Given the description of an element on the screen output the (x, y) to click on. 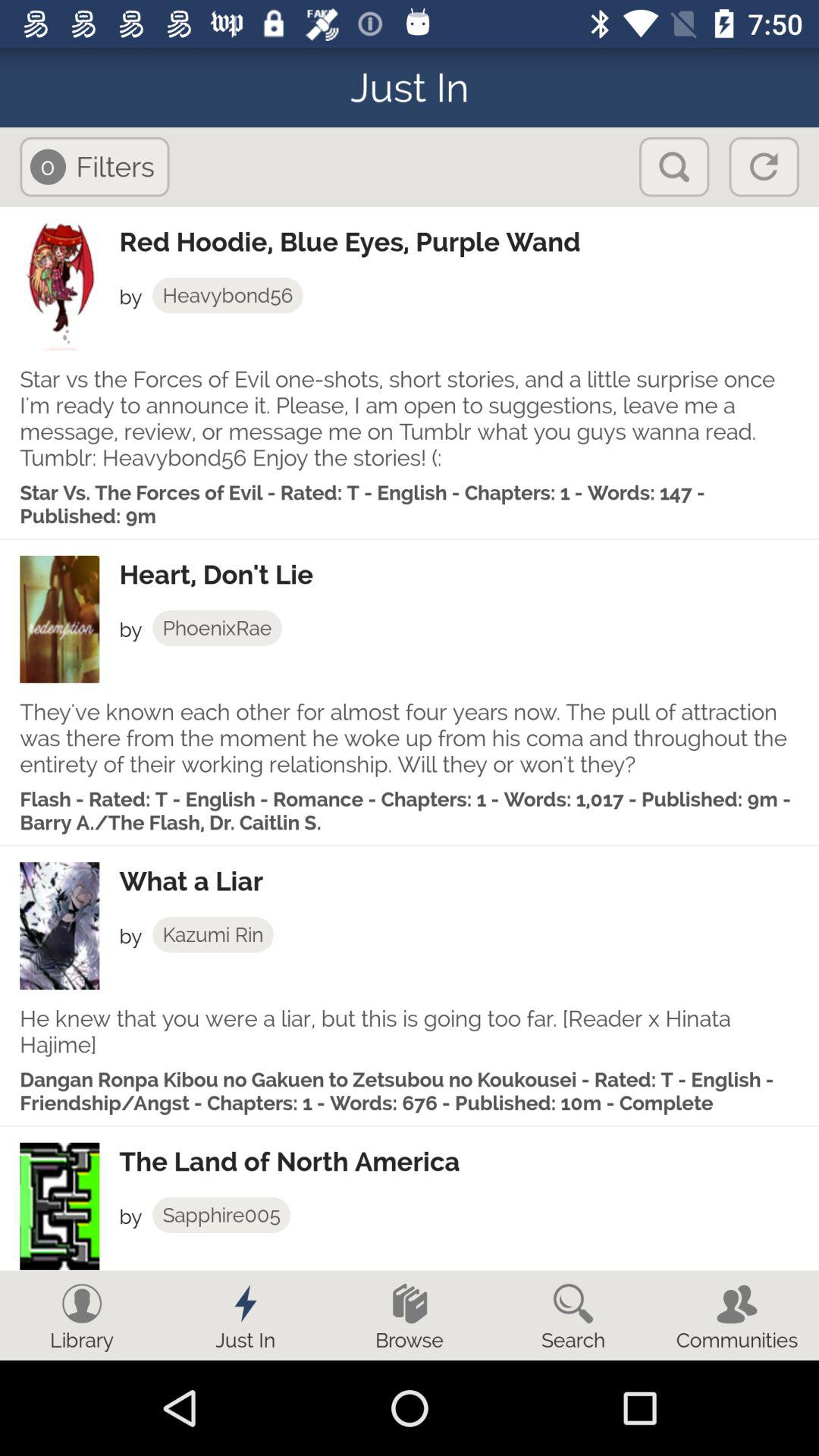
click heavybond56 item (227, 295)
